Given the description of an element on the screen output the (x, y) to click on. 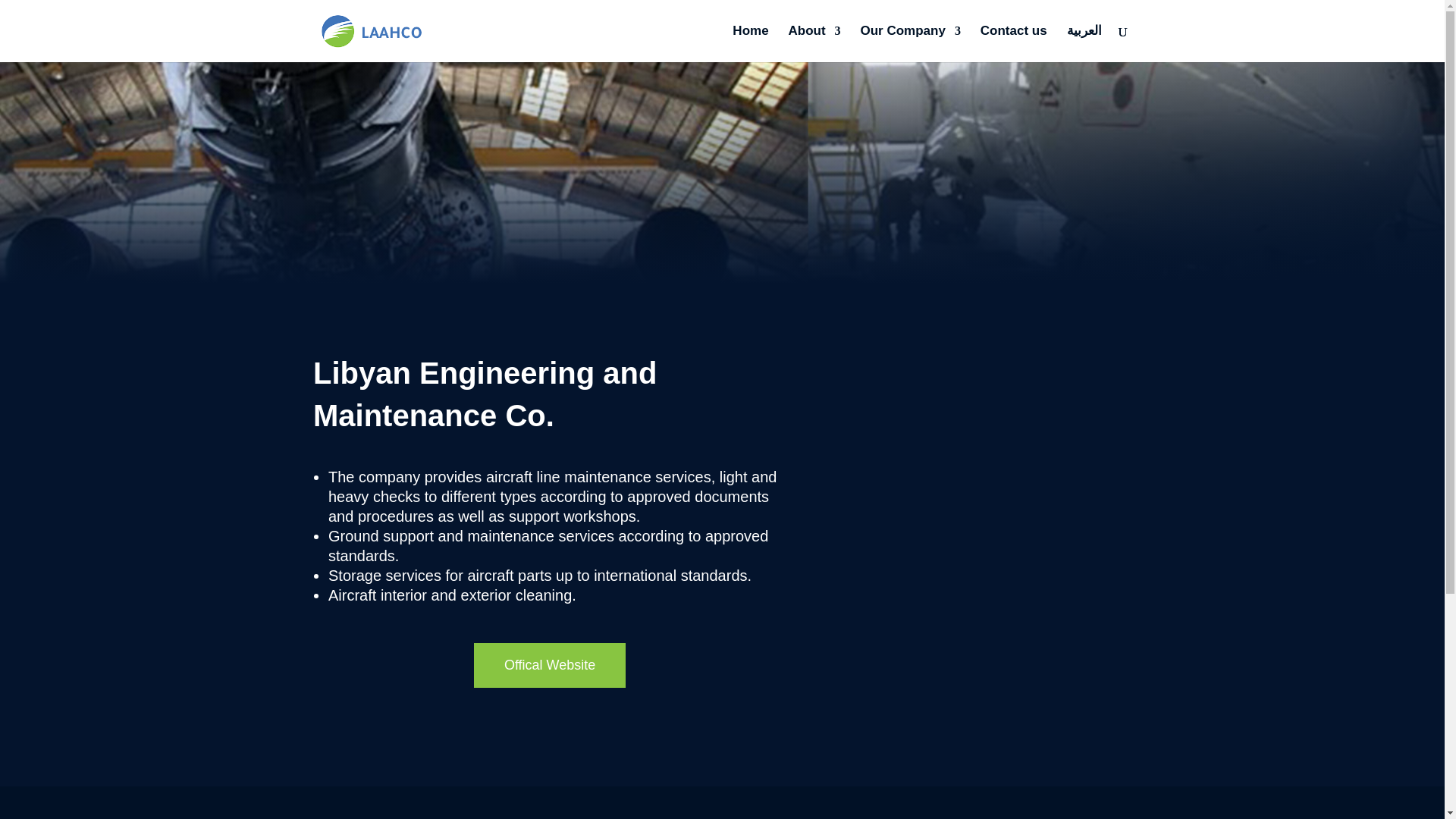
Offical Website (548, 664)
About (813, 43)
Contact us (1012, 43)
Our Company (909, 43)
Home (750, 43)
